Given the description of an element on the screen output the (x, y) to click on. 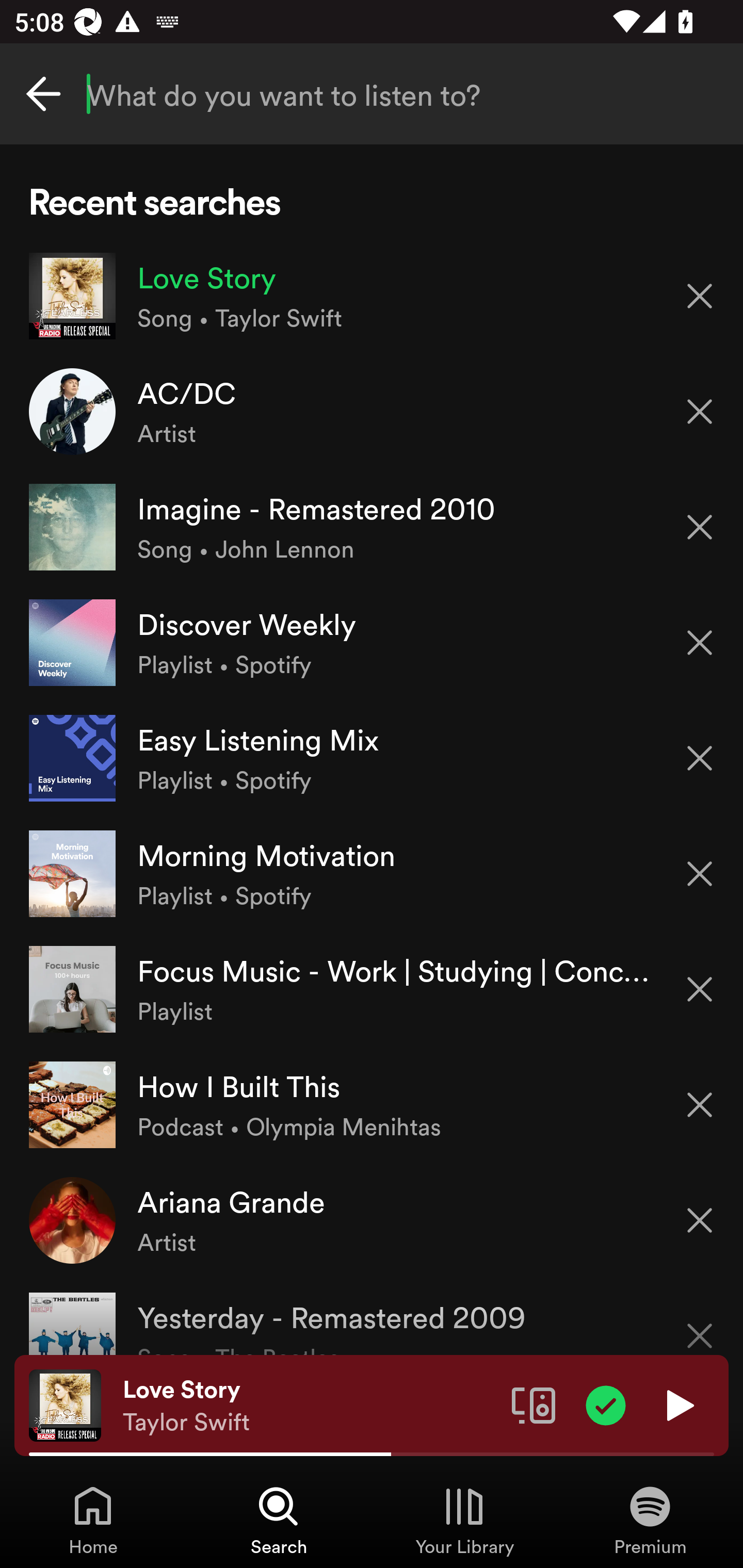
What do you want to listen to? (371, 93)
Cancel (43, 93)
Love Story Song • Taylor Swift Remove (371, 296)
Remove (699, 295)
AC/DC Artist Remove (371, 411)
Remove (699, 411)
Remove (699, 527)
Discover Weekly Playlist • Spotify Remove (371, 642)
Remove (699, 642)
Easy Listening Mix Playlist • Spotify Remove (371, 757)
Remove (699, 758)
Morning Motivation Playlist • Spotify Remove (371, 873)
Remove (699, 874)
Remove (699, 989)
Remove (699, 1104)
Ariana Grande Artist Remove (371, 1219)
Remove (699, 1220)
Remove (699, 1323)
Love Story Taylor Swift (309, 1405)
The cover art of the currently playing track (64, 1404)
Connect to a device. Opens the devices menu (533, 1404)
Item added (605, 1404)
Play (677, 1404)
Home, Tab 1 of 4 Home Home (92, 1519)
Search, Tab 2 of 4 Search Search (278, 1519)
Your Library, Tab 3 of 4 Your Library Your Library (464, 1519)
Premium, Tab 4 of 4 Premium Premium (650, 1519)
